Given the description of an element on the screen output the (x, y) to click on. 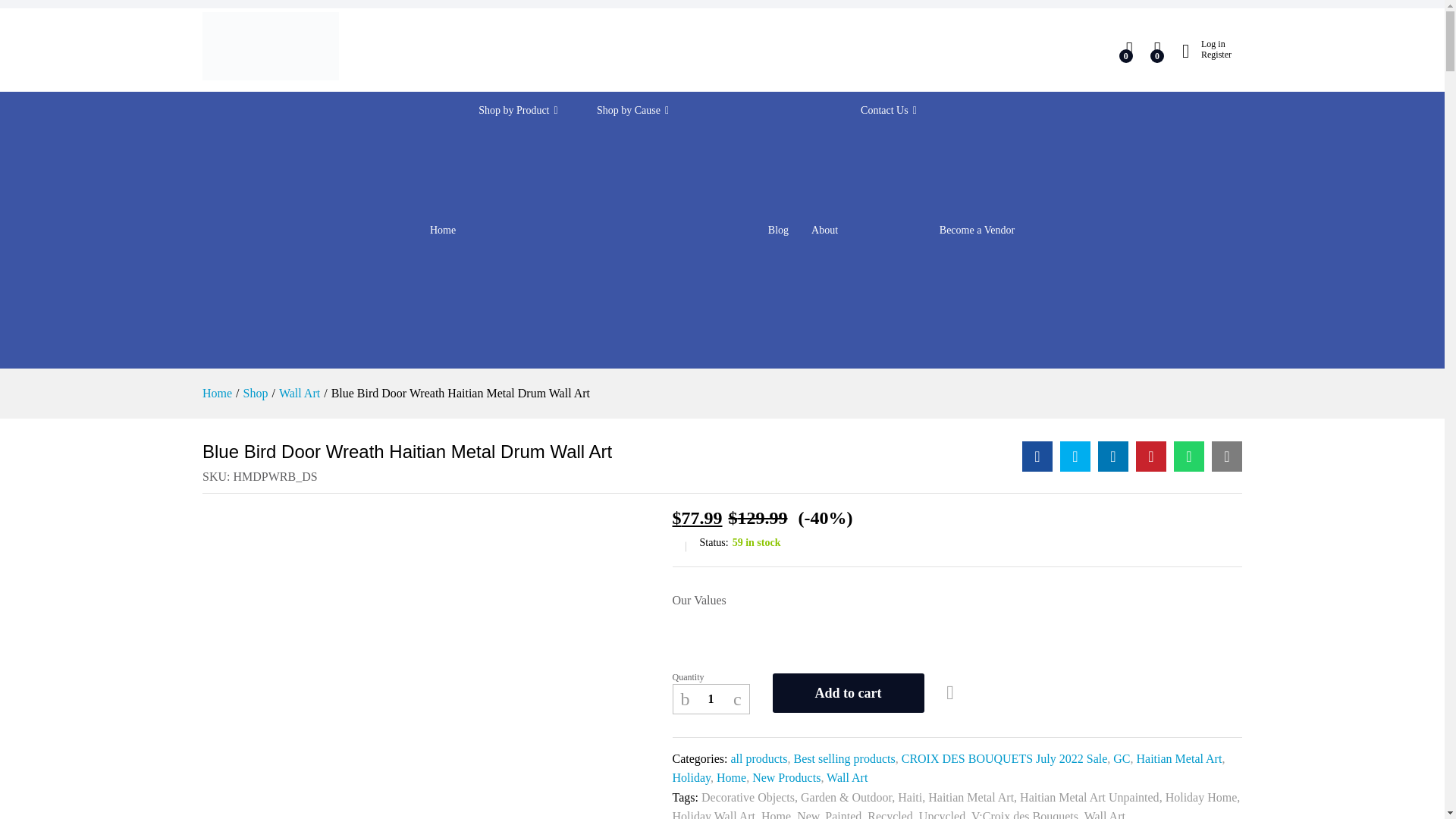
Add to wishlist (952, 692)
Blue Bird Door Wreath Haitian Metal Drum Wall Art (1188, 456)
Qty (710, 698)
Home (442, 230)
Shop by Cause (670, 110)
Blue Bird Door Wreath Haitian Metal Drum Wall Art (1226, 456)
Shop by Product (525, 110)
Blog (778, 230)
Become a Vendor (976, 230)
1 (710, 698)
Register (1206, 54)
Contact Us (888, 110)
Log in (1206, 43)
About (824, 230)
Blue Bird Door Wreath Haitian Metal Drum Wall Art (1037, 456)
